Given the description of an element on the screen output the (x, y) to click on. 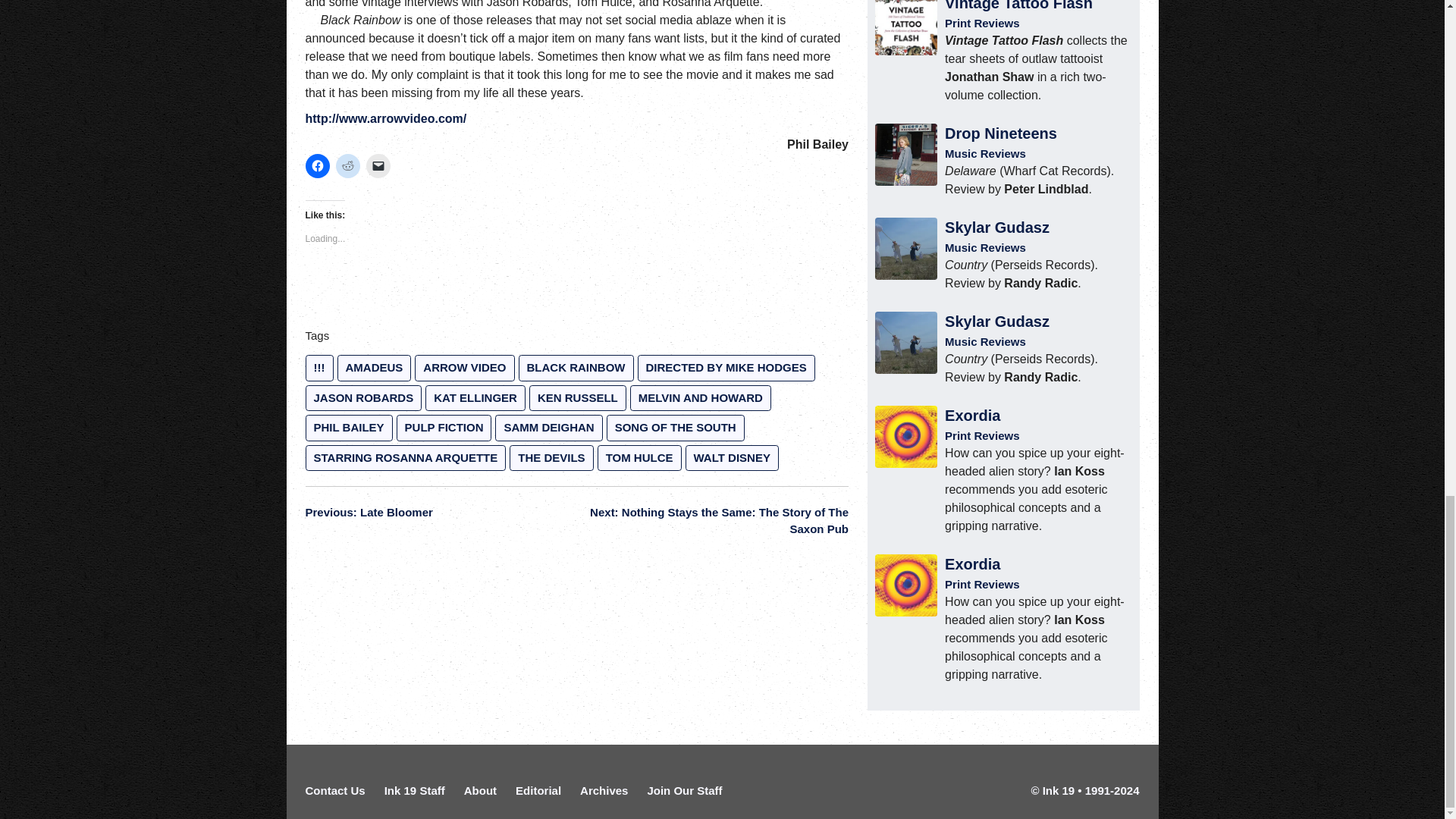
Click to share on Reddit (346, 165)
Click to email a link to a friend (377, 165)
Click to share on Facebook (316, 165)
Like or Reblog (575, 291)
